Given the description of an element on the screen output the (x, y) to click on. 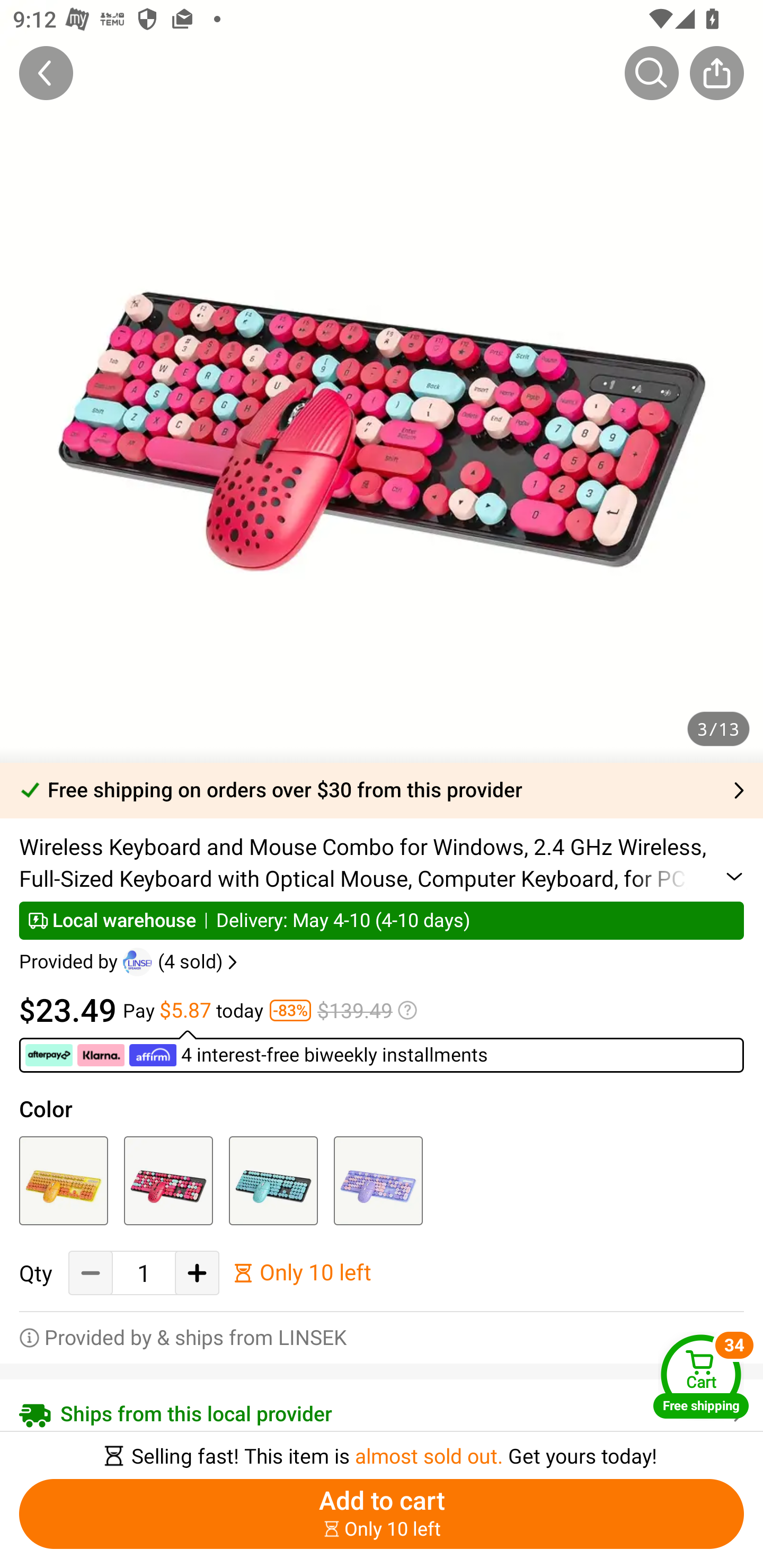
Back (46, 72)
Share (716, 72)
Local warehouse Delivery: May 4-10 (4-10 days) (381, 920)
By null(4 sold) Provided by  (4 sold) (130, 961)
Provided by  (70, 961)
￼ ￼ ￼ 4 interest-free biweekly installments (381, 1051)
￼ ￼ ￼ 4 interest-free biweekly installments (257, 1055)
Yellow (63, 1180)
Red (167, 1180)
Green (273, 1180)
Purple (378, 1180)
Decrease Quantity Button (90, 1273)
Add Quantity button (196, 1273)
1 (143, 1273)
Cart Free shipping Cart (701, 1375)
Add to cart ￼￼Only 10 left (381, 1513)
